Given the description of an element on the screen output the (x, y) to click on. 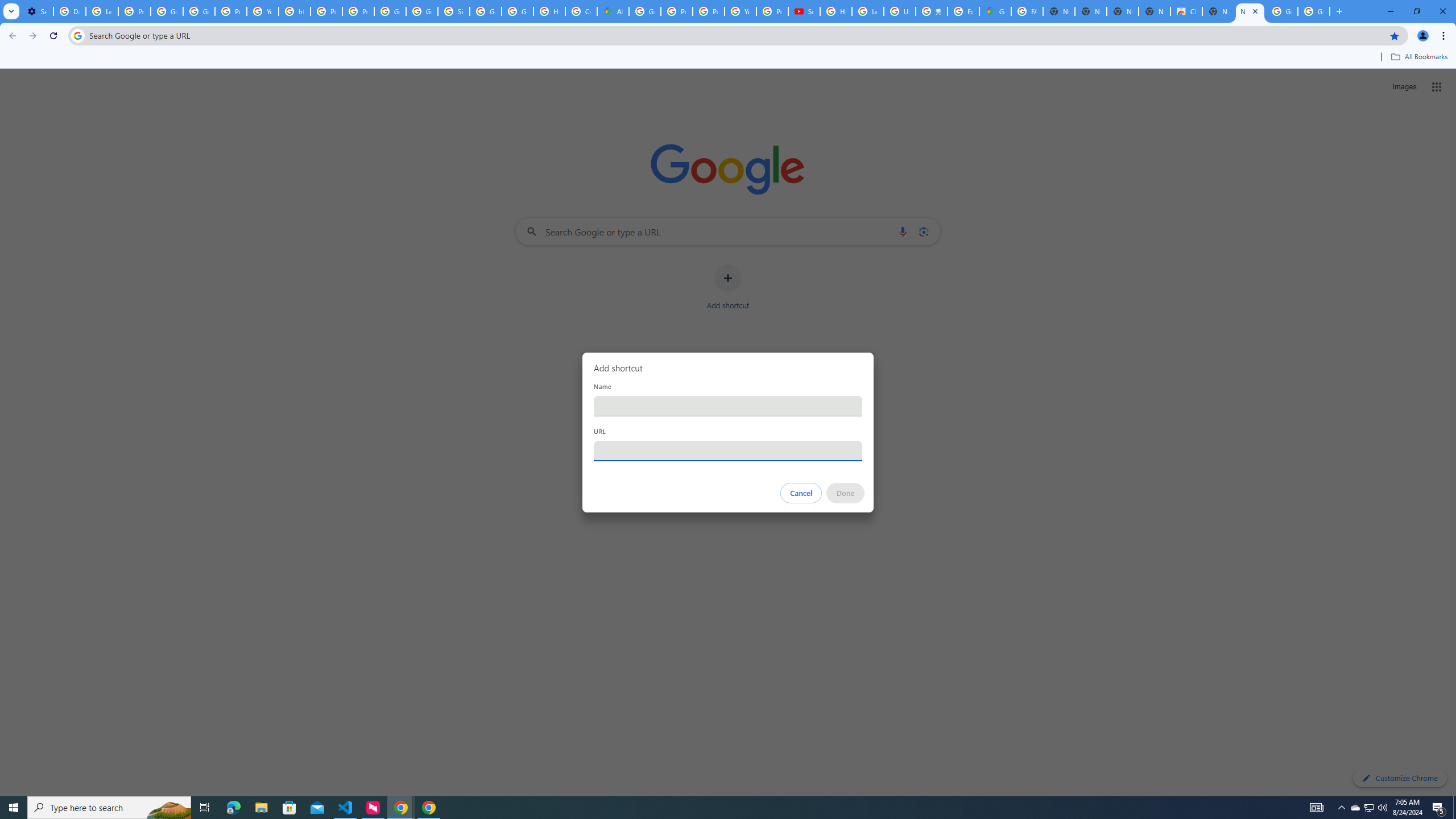
YouTube (740, 11)
Done (845, 493)
How Chrome protects your passwords - Google Chrome Help (836, 11)
Chrome Web Store (1185, 11)
URL (727, 450)
Privacy Help Center - Policies Help (708, 11)
